Given the description of an element on the screen output the (x, y) to click on. 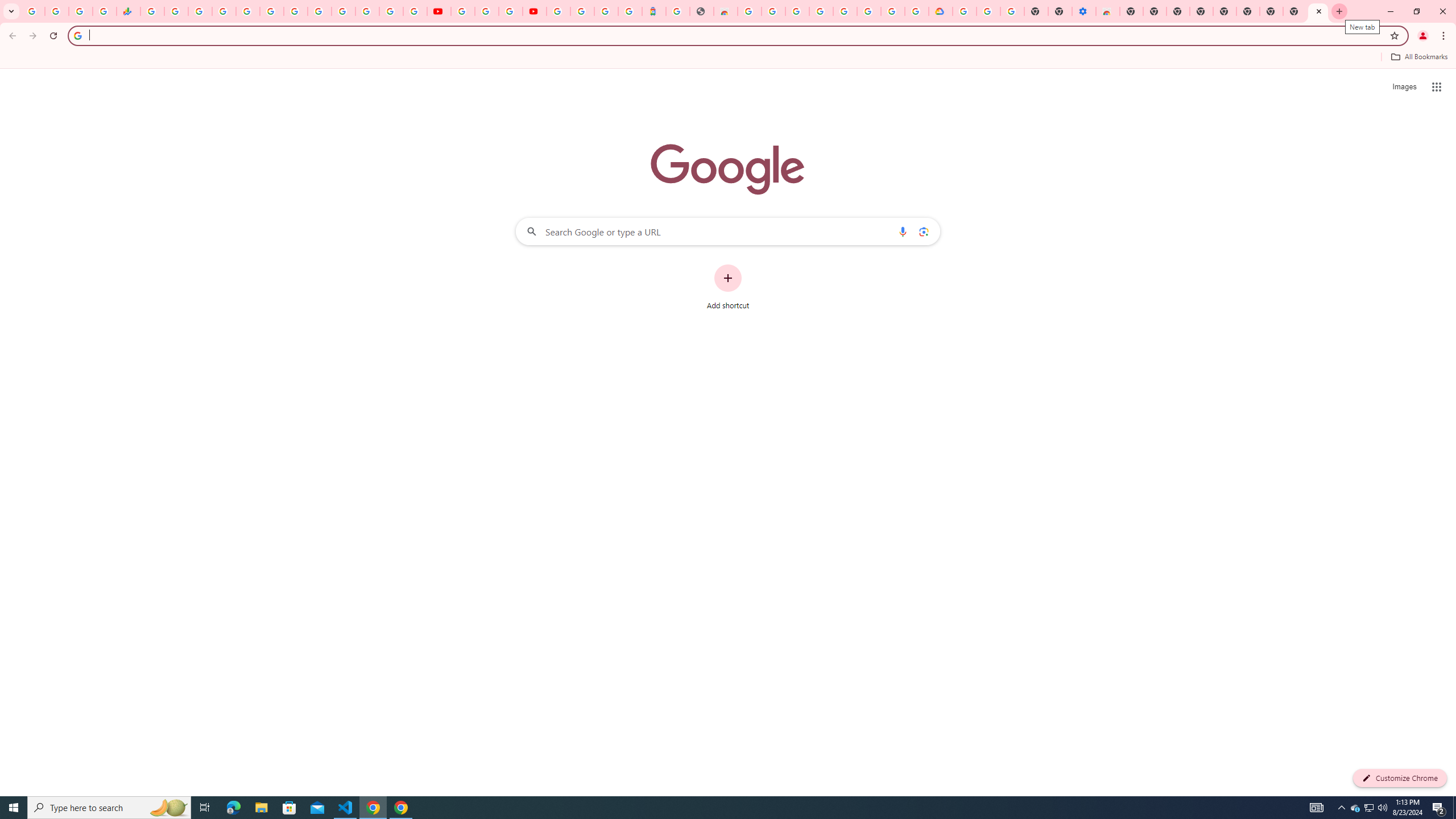
Sign in - Google Accounts (223, 11)
Ad Settings (796, 11)
Turn cookies on or off - Computer - Google Account Help (1012, 11)
Google apps (1436, 86)
New Tab (1271, 11)
Google Workspace Admin Community (32, 11)
All Bookmarks (1418, 56)
